Given the description of an element on the screen output the (x, y) to click on. 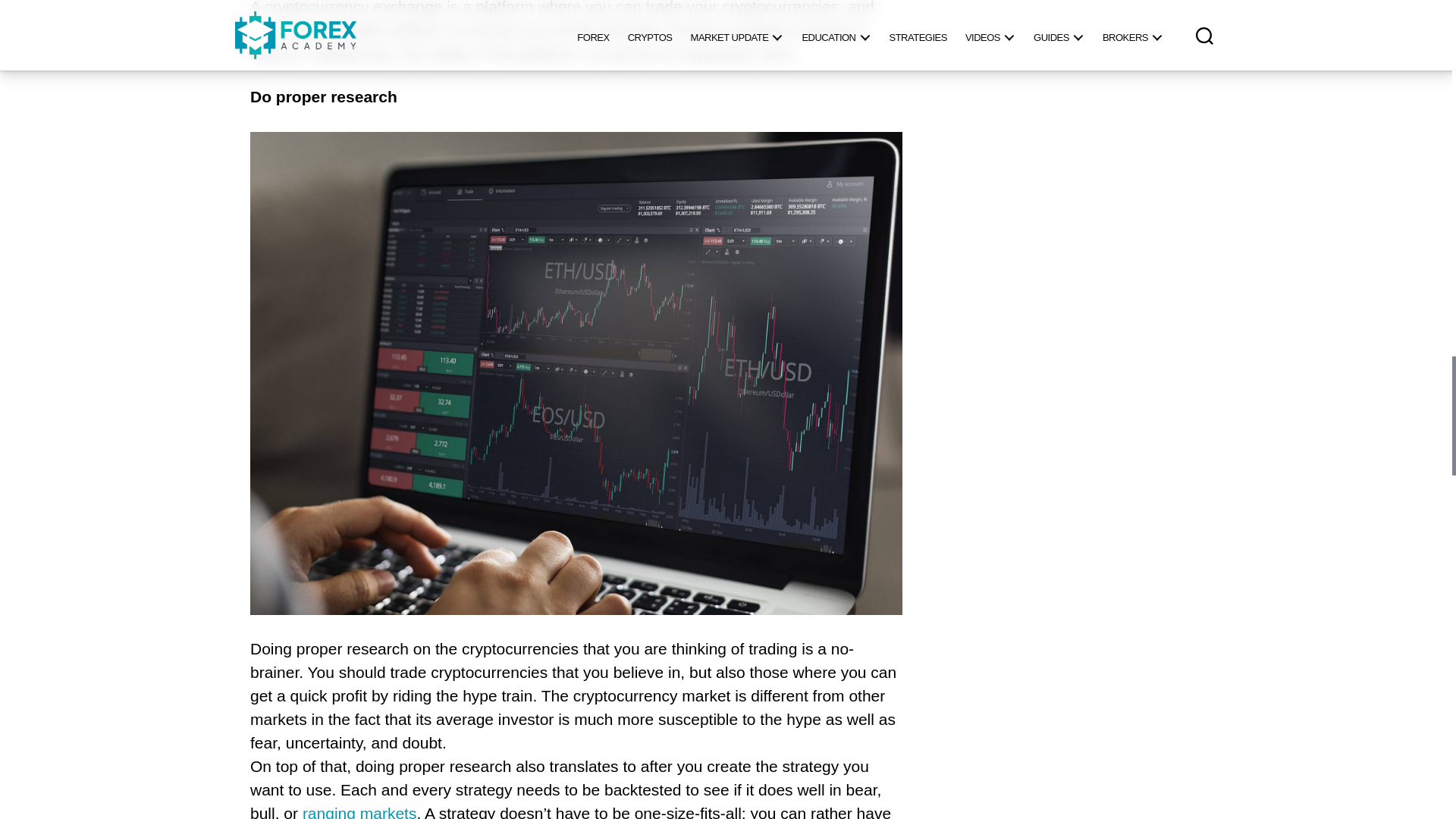
ranging markets (359, 810)
